Given the description of an element on the screen output the (x, y) to click on. 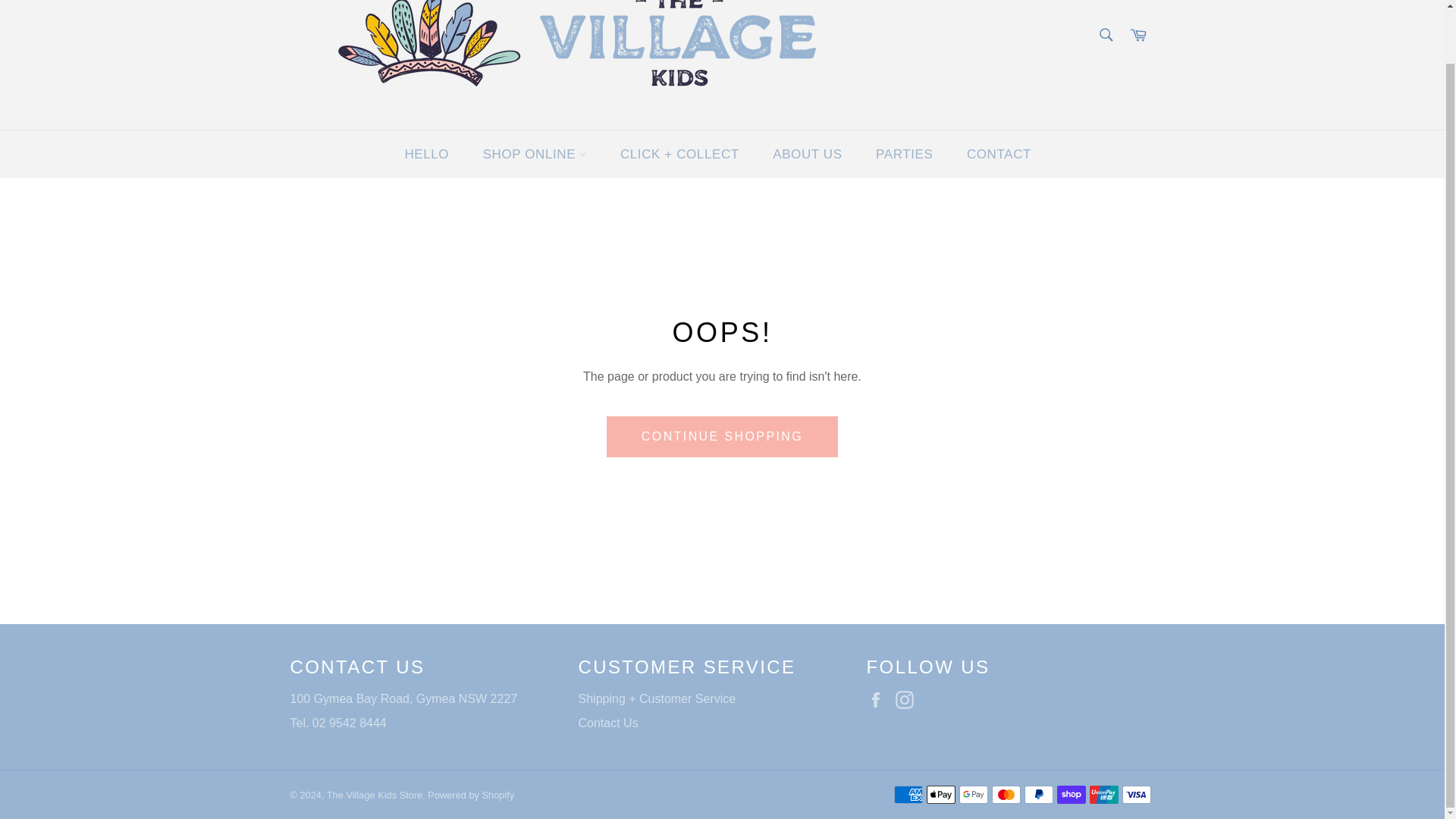
Powered by Shopify (470, 794)
ABOUT US (807, 154)
Facebook (878, 700)
Instagram (908, 700)
Contact Us (607, 722)
SHOP ONLINE (534, 154)
CONTACT (999, 154)
The Village Kids Store on Instagram (908, 700)
HELLO (426, 154)
Cart (1138, 35)
